Given the description of an element on the screen output the (x, y) to click on. 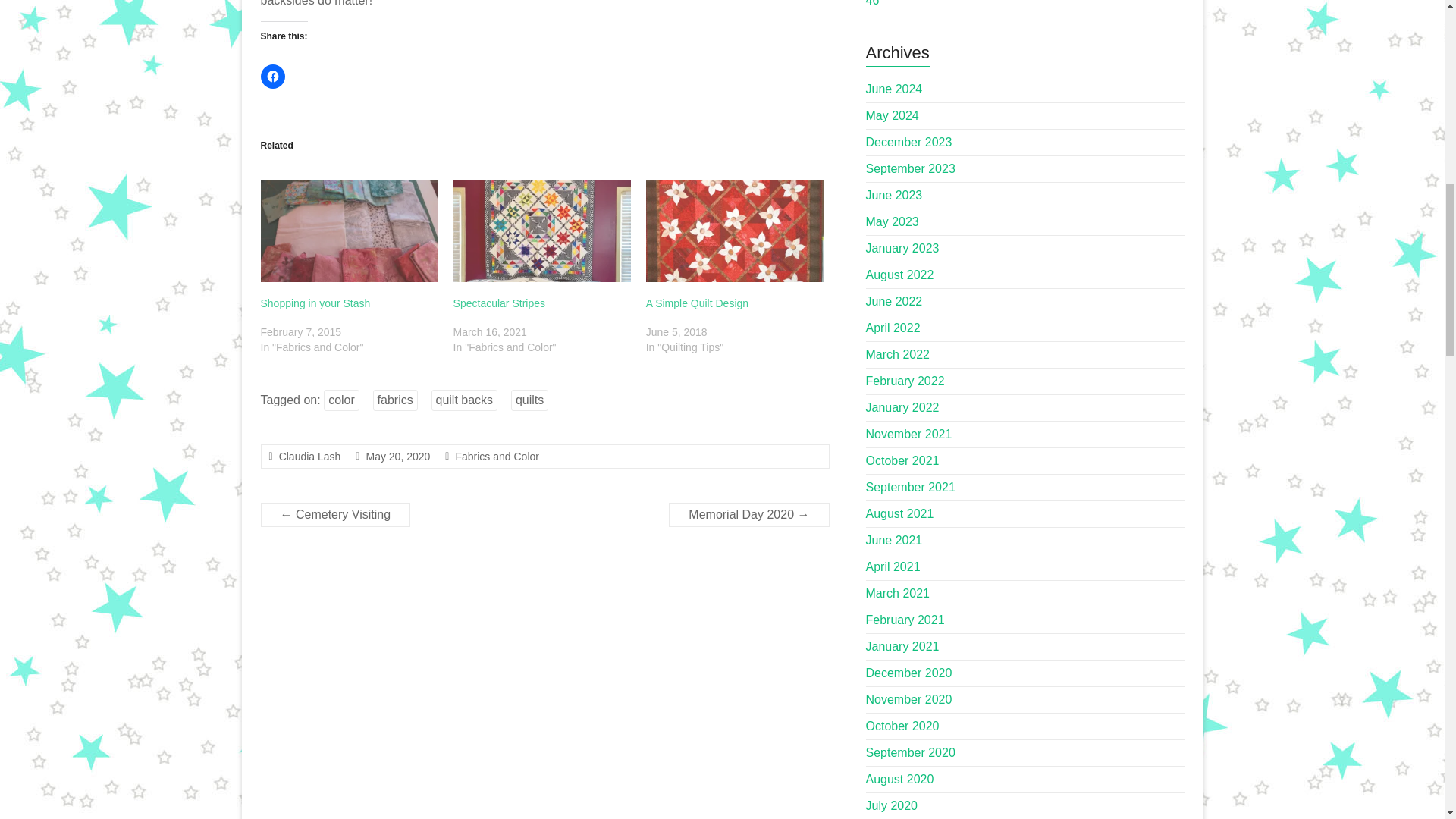
Click to share on Facebook (272, 76)
8:08 pm (397, 456)
Spectacular Stripes (498, 303)
Shopping in your Stash (349, 230)
A Simple Quilt Design (697, 303)
Spectacular Stripes (541, 230)
A Simple Quilt Design (735, 230)
Shopping in your Stash (315, 303)
